Given the description of an element on the screen output the (x, y) to click on. 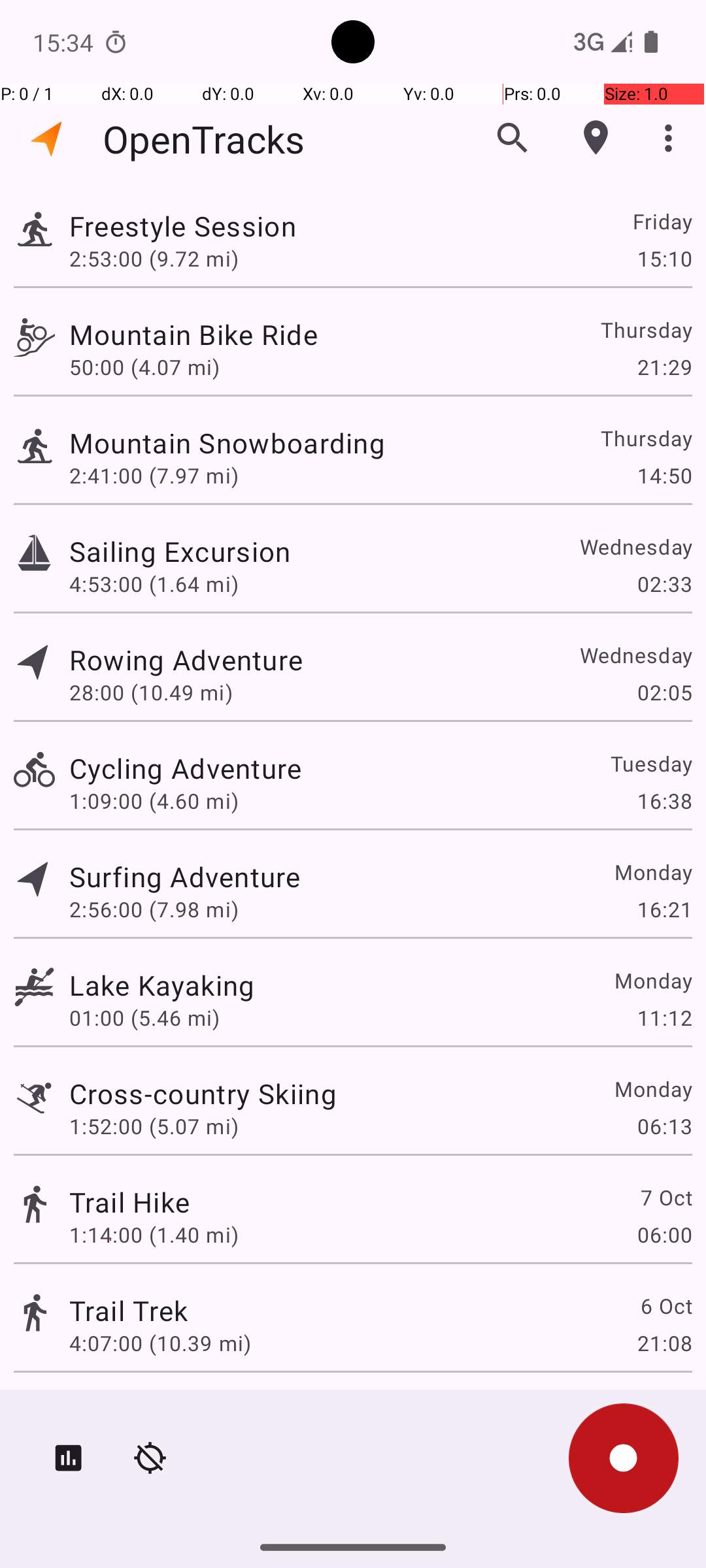
Freestyle Session Element type: android.widget.TextView (182, 225)
2:53:00 (9.72 mi) Element type: android.widget.TextView (153, 258)
15:10 Element type: android.widget.TextView (664, 258)
Mountain Bike Ride Element type: android.widget.TextView (193, 333)
50:00 (4.07 mi) Element type: android.widget.TextView (144, 366)
21:29 Element type: android.widget.TextView (664, 366)
Mountain Snowboarding Element type: android.widget.TextView (226, 442)
2:41:00 (7.97 mi) Element type: android.widget.TextView (153, 475)
14:50 Element type: android.widget.TextView (664, 475)
Sailing Excursion Element type: android.widget.TextView (179, 550)
4:53:00 (1.64 mi) Element type: android.widget.TextView (153, 583)
02:33 Element type: android.widget.TextView (664, 583)
Rowing Adventure Element type: android.widget.TextView (185, 659)
28:00 (10.49 mi) Element type: android.widget.TextView (150, 692)
02:05 Element type: android.widget.TextView (664, 692)
Cycling Adventure Element type: android.widget.TextView (185, 767)
1:09:00 (4.60 mi) Element type: android.widget.TextView (153, 800)
16:38 Element type: android.widget.TextView (664, 800)
Surfing Adventure Element type: android.widget.TextView (184, 876)
2:56:00 (7.98 mi) Element type: android.widget.TextView (153, 909)
16:21 Element type: android.widget.TextView (664, 909)
Lake Kayaking Element type: android.widget.TextView (161, 984)
01:00 (5.46 mi) Element type: android.widget.TextView (144, 1017)
11:12 Element type: android.widget.TextView (664, 1017)
Cross-country Skiing Element type: android.widget.TextView (202, 1092)
1:52:00 (5.07 mi) Element type: android.widget.TextView (153, 1125)
06:13 Element type: android.widget.TextView (664, 1125)
Trail Hike Element type: android.widget.TextView (129, 1201)
1:14:00 (1.40 mi) Element type: android.widget.TextView (153, 1234)
06:00 Element type: android.widget.TextView (664, 1234)
Trail Trek Element type: android.widget.TextView (128, 1309)
4:07:00 (10.39 mi) Element type: android.widget.TextView (159, 1342)
21:08 Element type: android.widget.TextView (664, 1342)
Mountain Hike Element type: android.widget.TextView (162, 1408)
5 Oct Element type: android.widget.TextView (665, 1408)
